Given the description of an element on the screen output the (x, y) to click on. 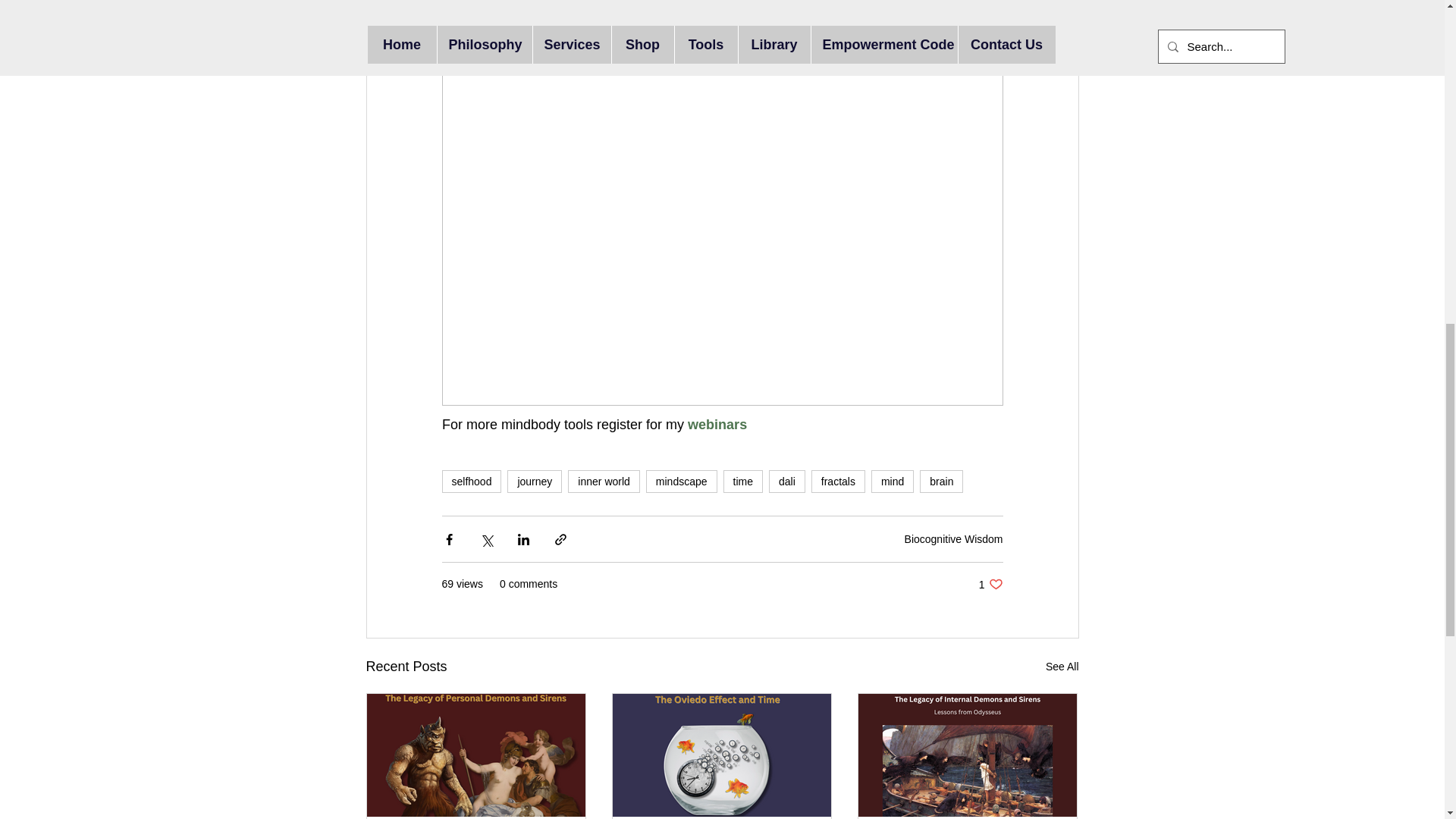
dali (786, 481)
webinars  (719, 424)
See All (1061, 667)
brain (941, 481)
selfhood (470, 481)
inner world (990, 584)
time (603, 481)
mind (742, 481)
journey (892, 481)
mindscape (534, 481)
fractals (681, 481)
Biocognitive Wisdom (837, 481)
